Given the description of an element on the screen output the (x, y) to click on. 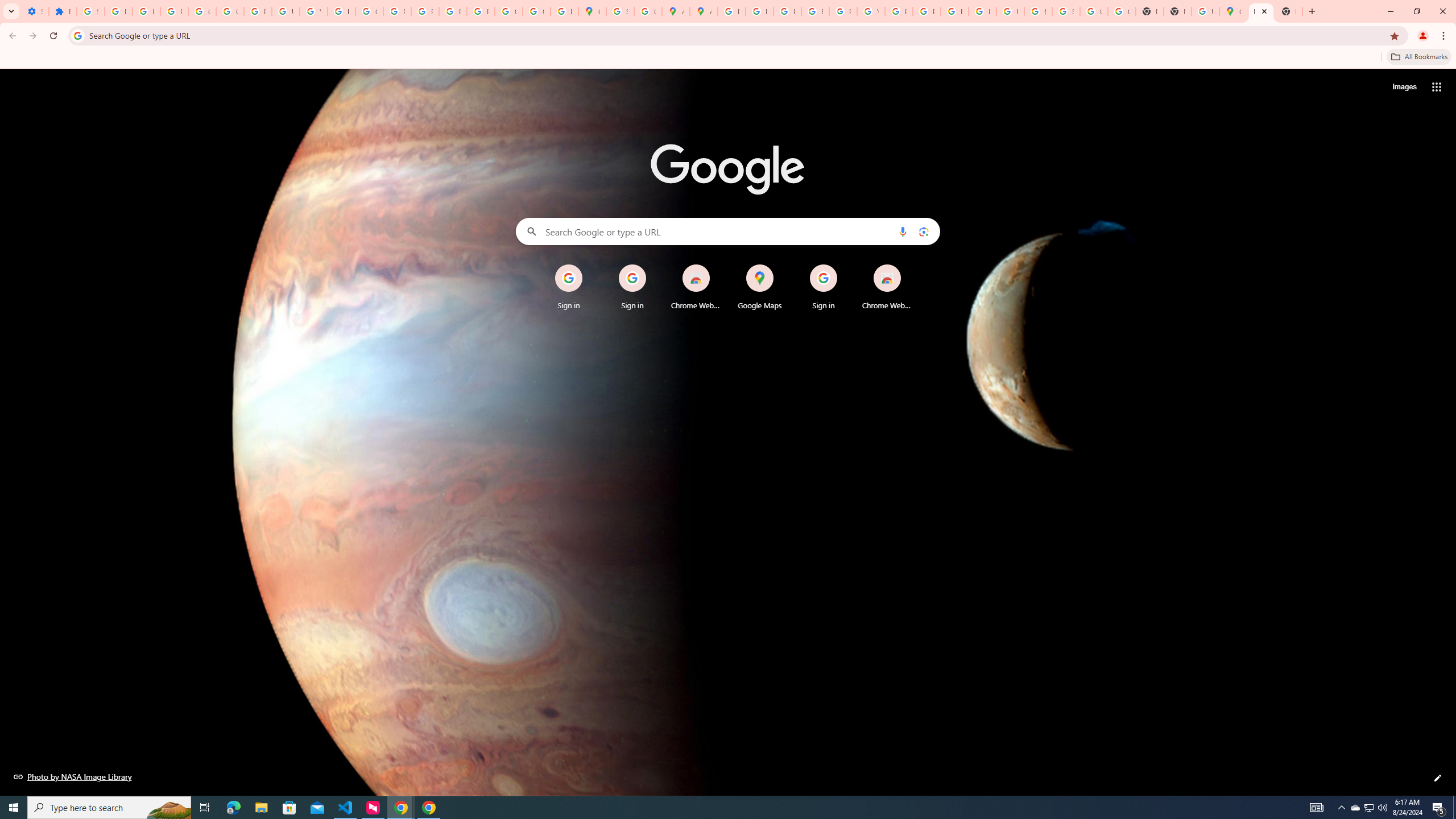
Customize this page (1437, 778)
Search Google or type a URL (727, 230)
Settings - On startup (34, 11)
YouTube (870, 11)
Google Account Help (202, 11)
Google Maps (592, 11)
Google Maps (1233, 11)
New Tab (1260, 11)
Privacy Help Center - Policies Help (397, 11)
